Given the description of an element on the screen output the (x, y) to click on. 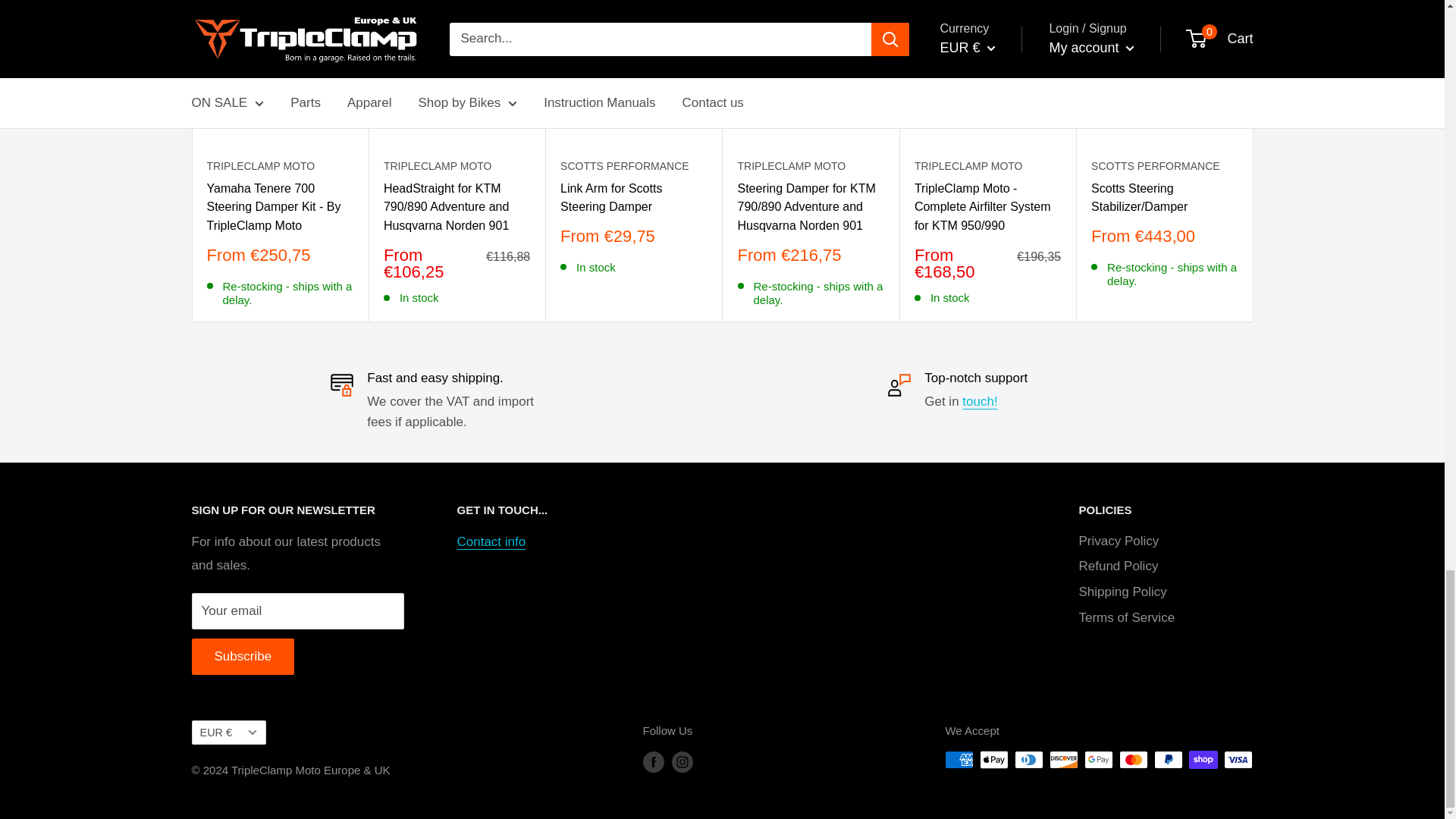
Contact us (491, 541)
Contact (979, 400)
